Given the description of an element on the screen output the (x, y) to click on. 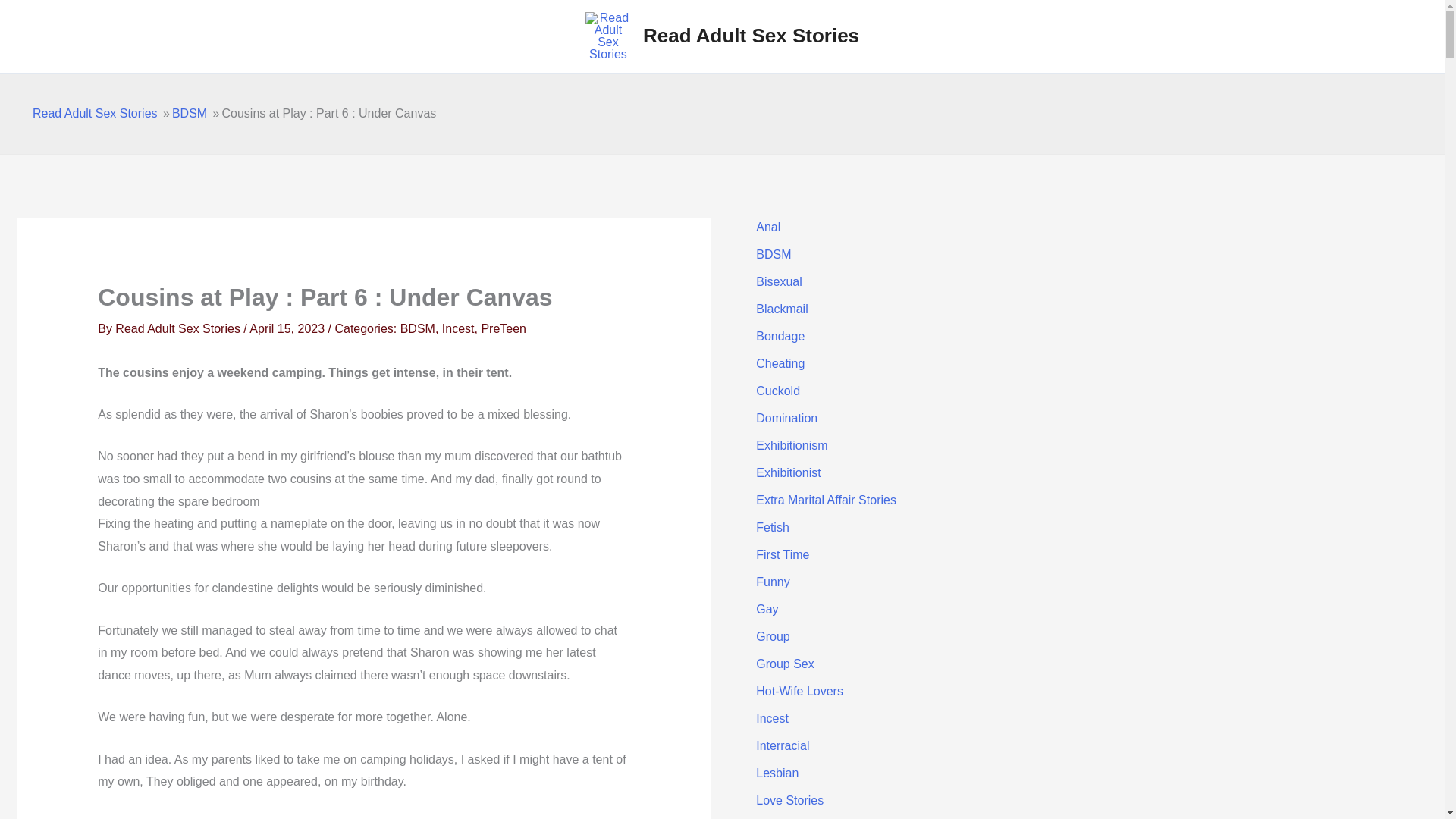
Incest (772, 717)
Domination (785, 418)
PreTeen (502, 328)
Hot-Wife Lovers (799, 690)
Bondage (780, 336)
Group (772, 635)
Bisexual (778, 281)
Incest (458, 328)
Lesbian (776, 772)
Group Sex (784, 663)
Read Adult Sex Stories (751, 35)
Anal (767, 226)
Interracial (782, 745)
BDSM (772, 254)
Fetish (772, 526)
